Given the description of an element on the screen output the (x, y) to click on. 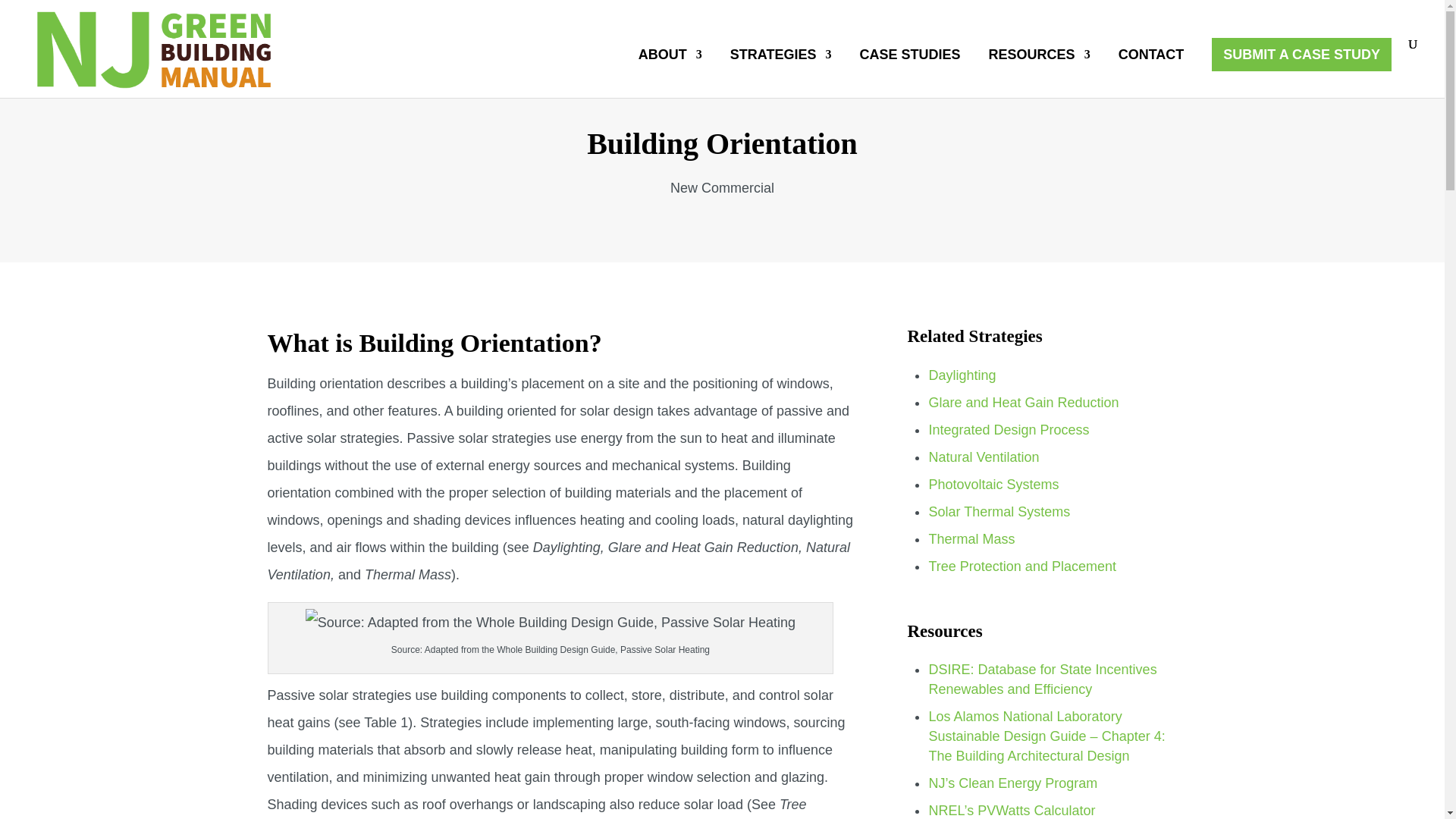
CONTACT (1151, 73)
SUBMIT A CASE STUDY (1301, 54)
STRATEGIES (780, 73)
RESOURCES (1039, 73)
Glare and Heat Gain Reduction (1023, 401)
CASE STUDIES (910, 73)
Daylighting (961, 374)
ABOUT (670, 73)
